Given the description of an element on the screen output the (x, y) to click on. 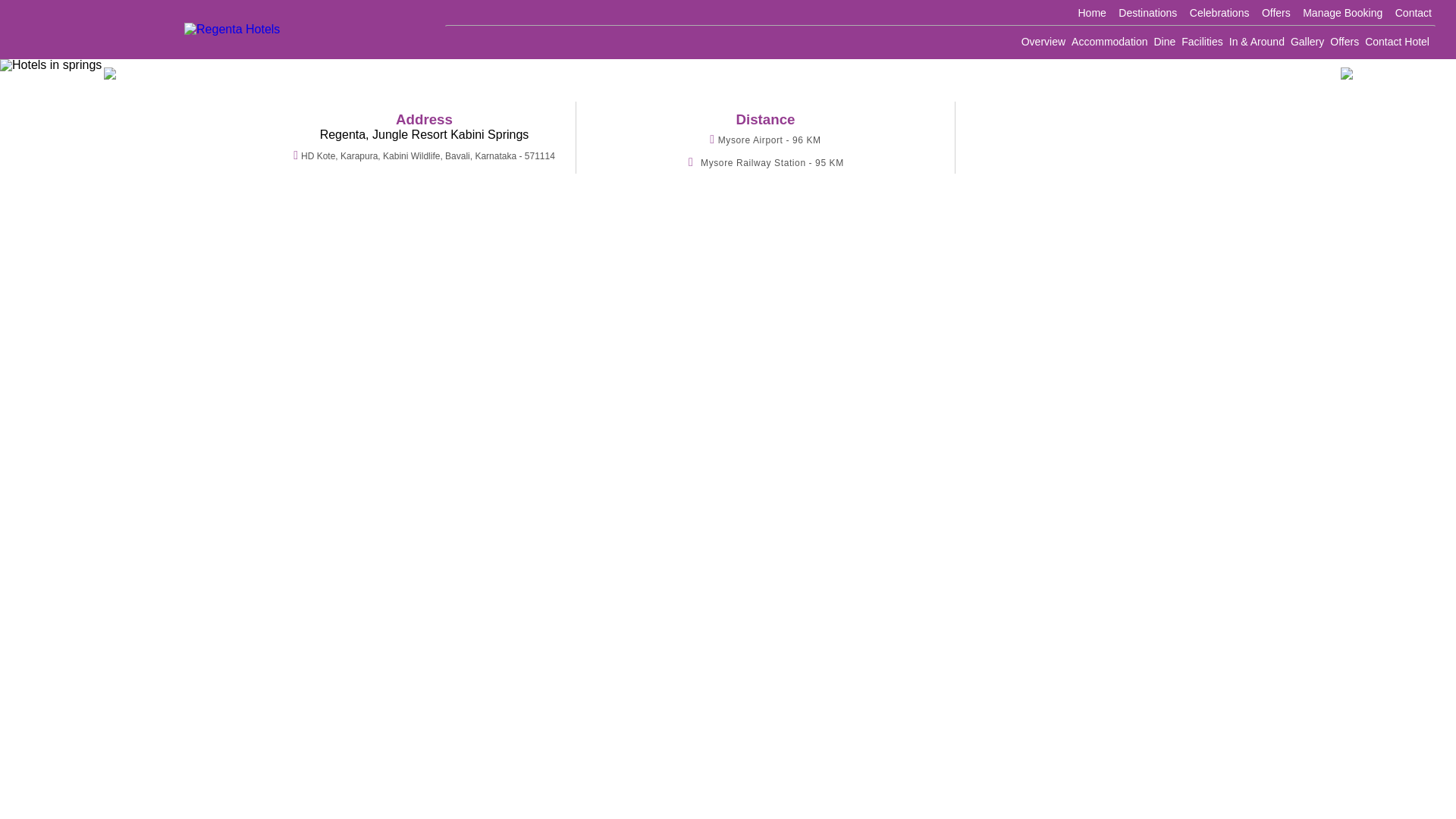
Home (1092, 12)
Destinations (1146, 12)
Book Now (1107, 21)
